Given the description of an element on the screen output the (x, y) to click on. 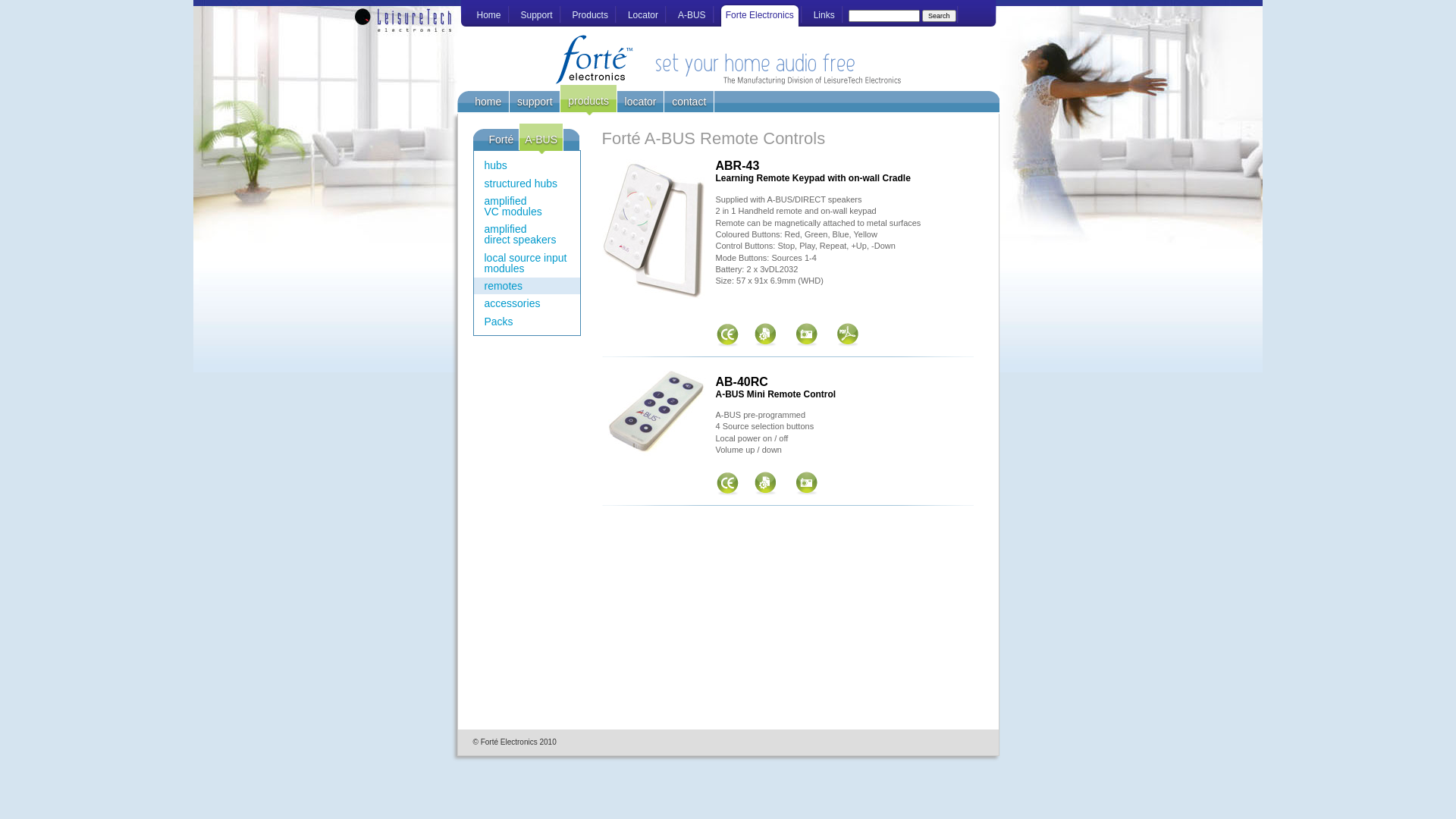
Forte Electronics Element type: text (759, 14)
amplified
VC modules Element type: text (512, 205)
local source input modules Element type: text (526, 262)
Links Element type: text (823, 14)
home Element type: text (488, 101)
locator Element type: text (641, 101)
support Element type: text (534, 101)
amplified
direct speakers Element type: text (519, 233)
contact Element type: text (689, 101)
A-BUS Element type: text (541, 138)
products Element type: text (588, 99)
Packs Element type: text (498, 321)
Home Element type: text (488, 14)
Support Element type: text (536, 14)
Search Element type: text (939, 15)
Locator Element type: text (642, 14)
remotes Element type: text (503, 285)
structured hubs Element type: text (520, 182)
hubs Element type: text (495, 164)
A-BUS Element type: text (691, 14)
Products Element type: text (590, 14)
accessories Element type: text (511, 302)
